Given the description of an element on the screen output the (x, y) to click on. 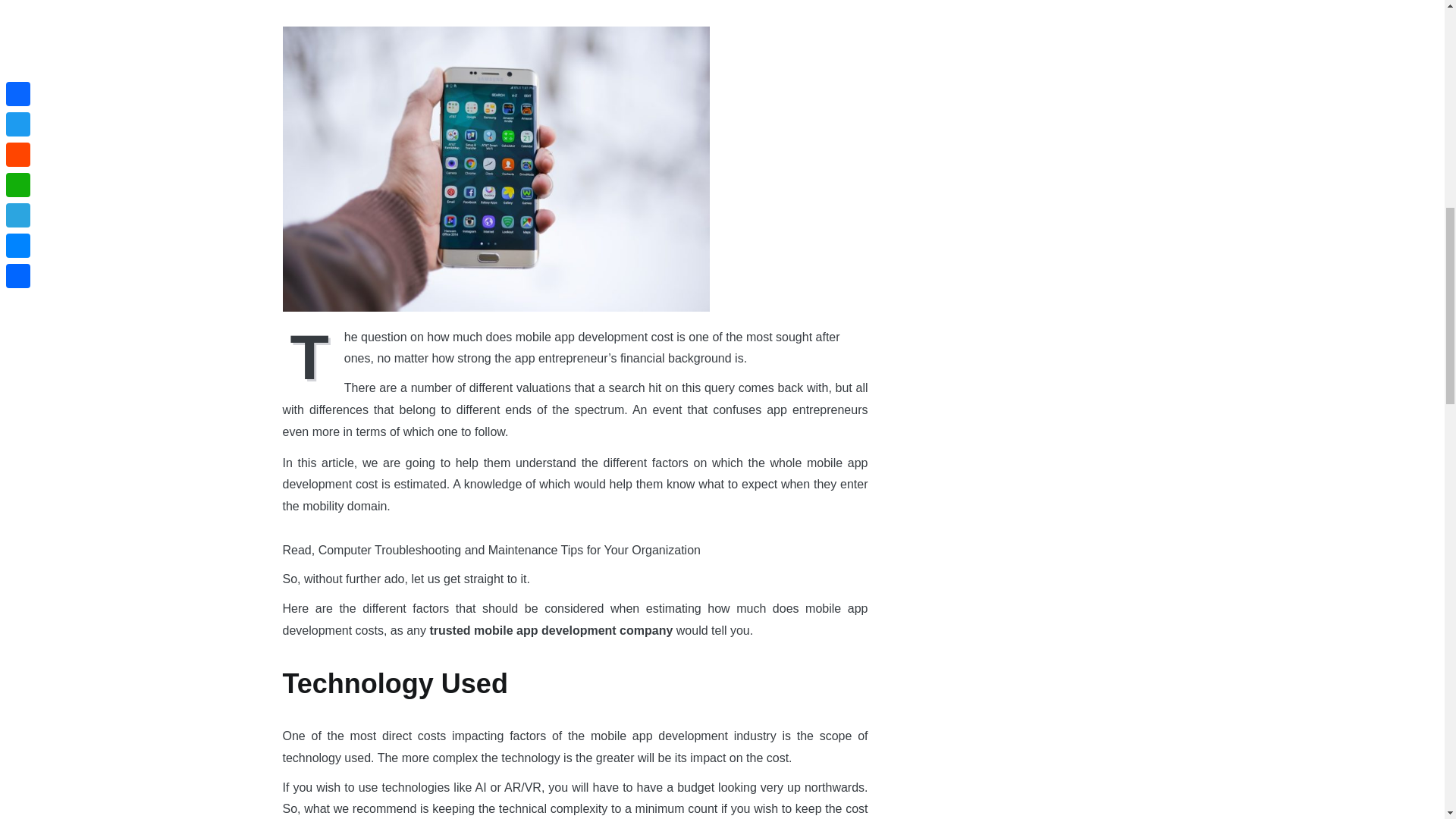
Factors Affecting the Mobile App Development Cost (495, 168)
T (312, 355)
